Given the description of an element on the screen output the (x, y) to click on. 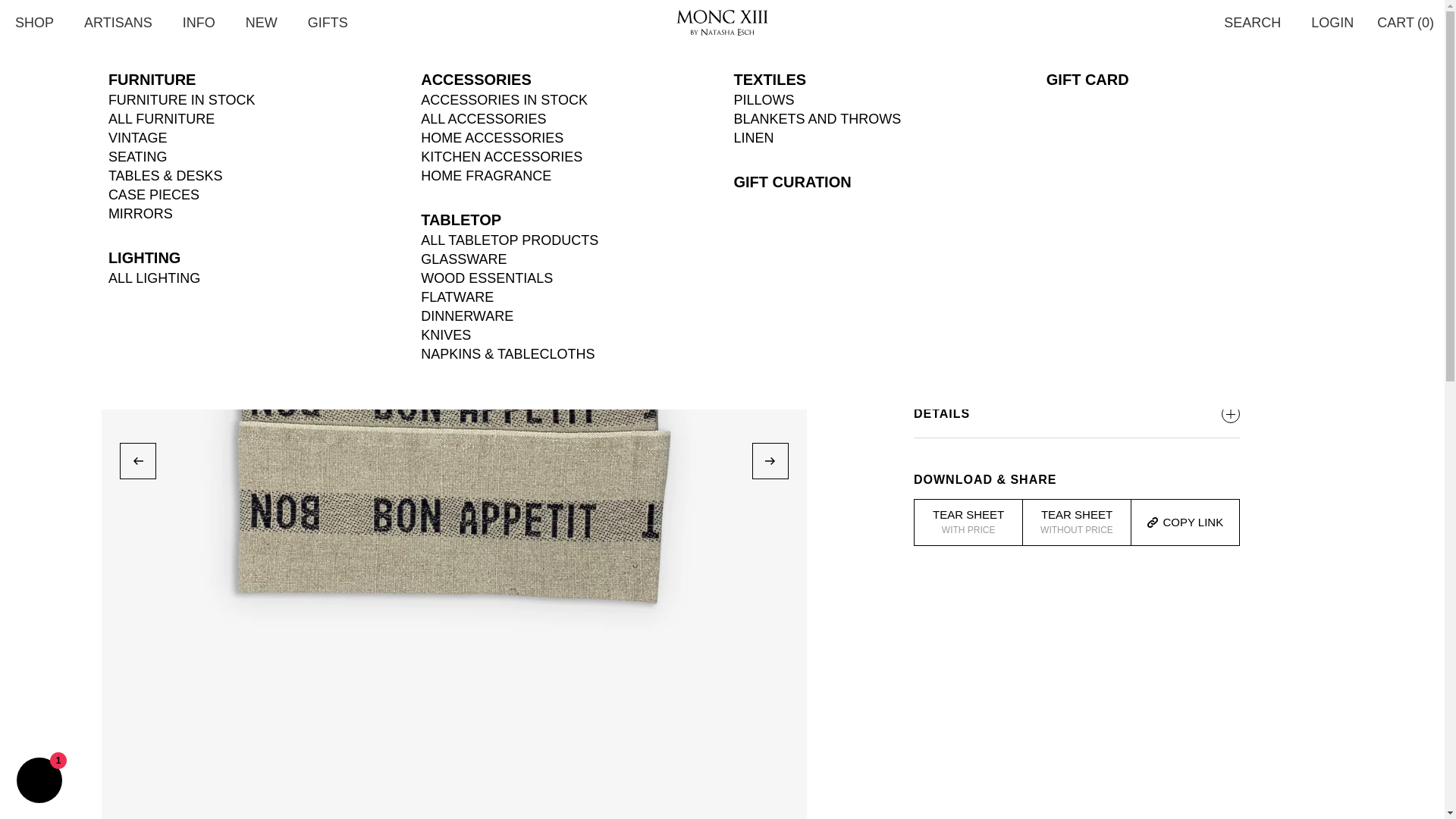
Shopify online store chat (38, 781)
